Given the description of an element on the screen output the (x, y) to click on. 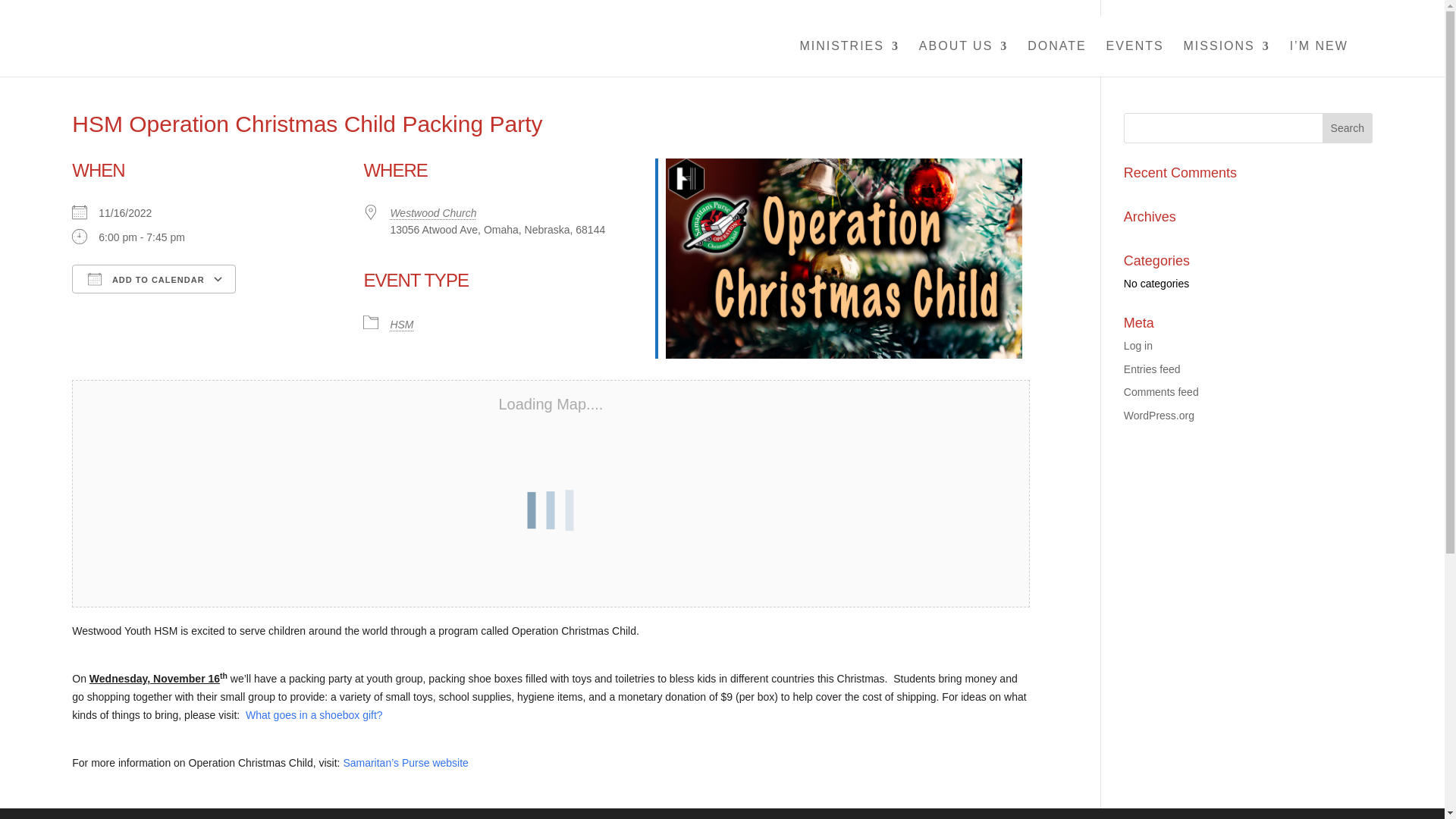
MINISTRIES (849, 58)
DONATE (1056, 58)
MISSIONS (1226, 58)
EVENTS (1134, 58)
Search (1347, 128)
ABOUT US (963, 58)
